Given the description of an element on the screen output the (x, y) to click on. 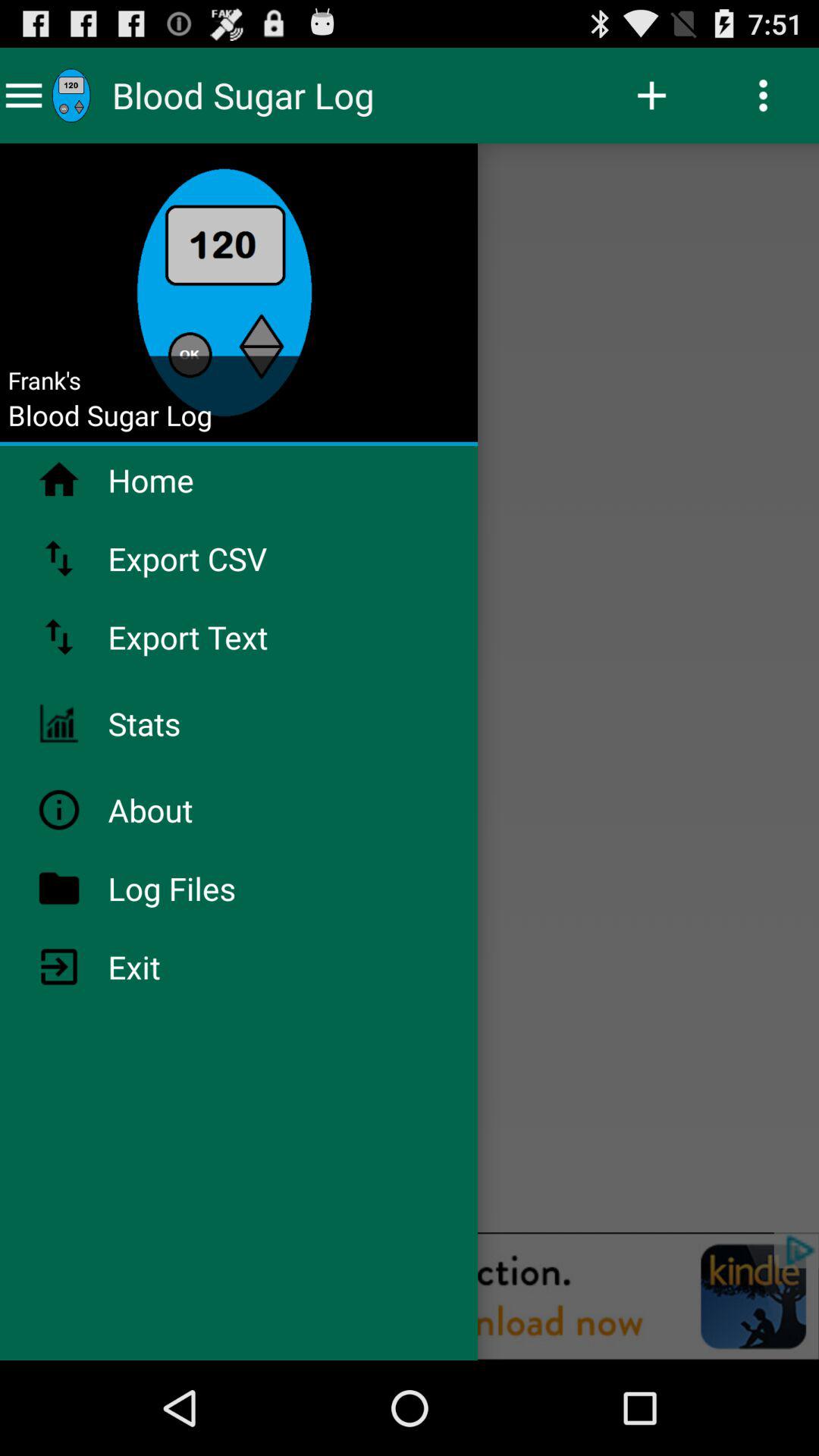
flip to the stats item (184, 723)
